Given the description of an element on the screen output the (x, y) to click on. 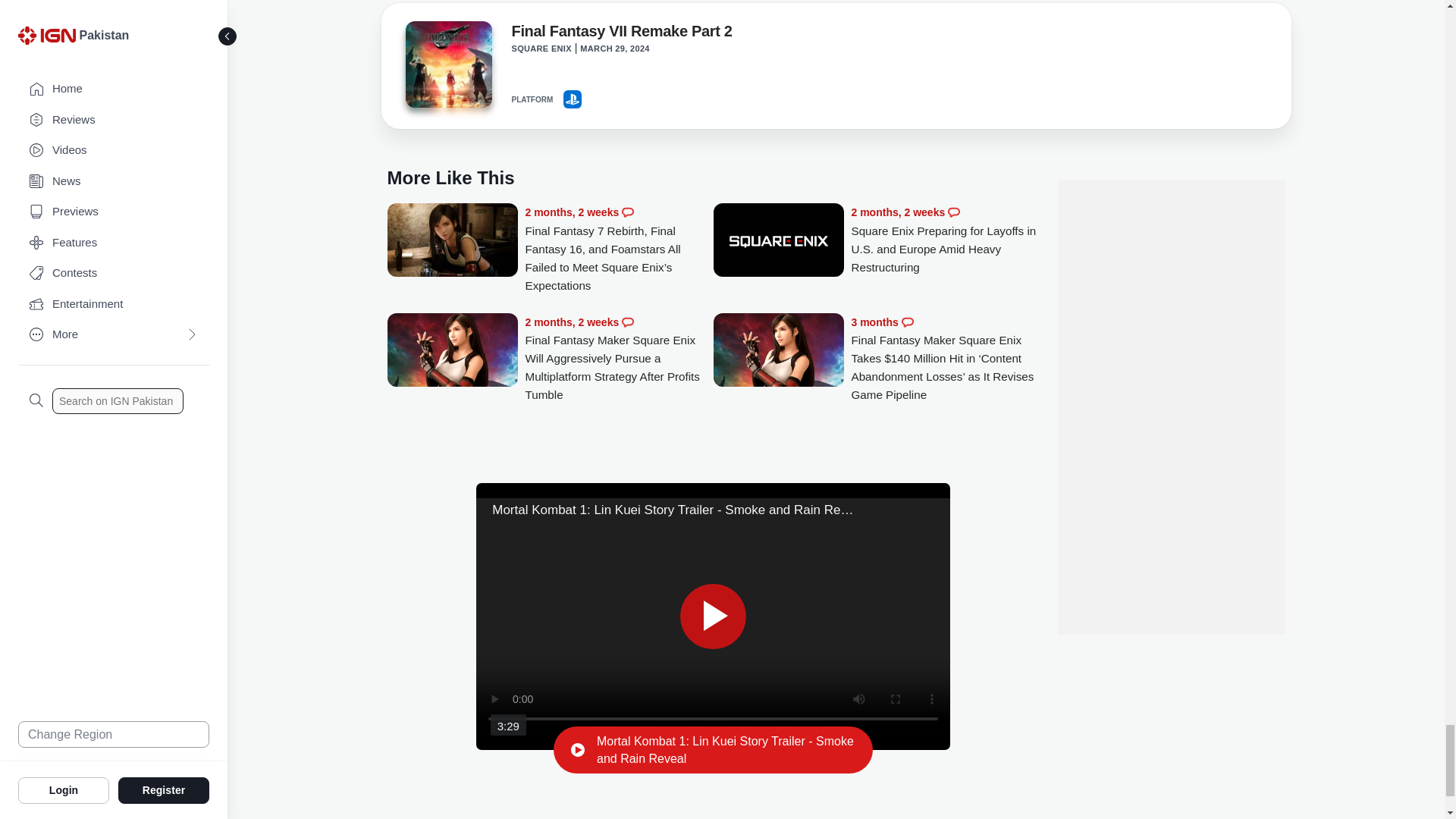
Final Fantasy VII Remake Part 2 (621, 33)
Final Fantasy VII Remake Part 2 (621, 33)
Comments (627, 322)
Final Fantasy VII Remake Part 2 (448, 64)
Final Fantasy VII Remake Part 2 (448, 68)
Comments (627, 212)
Comments (907, 322)
PS5 (571, 99)
Comments (953, 212)
